Given the description of an element on the screen output the (x, y) to click on. 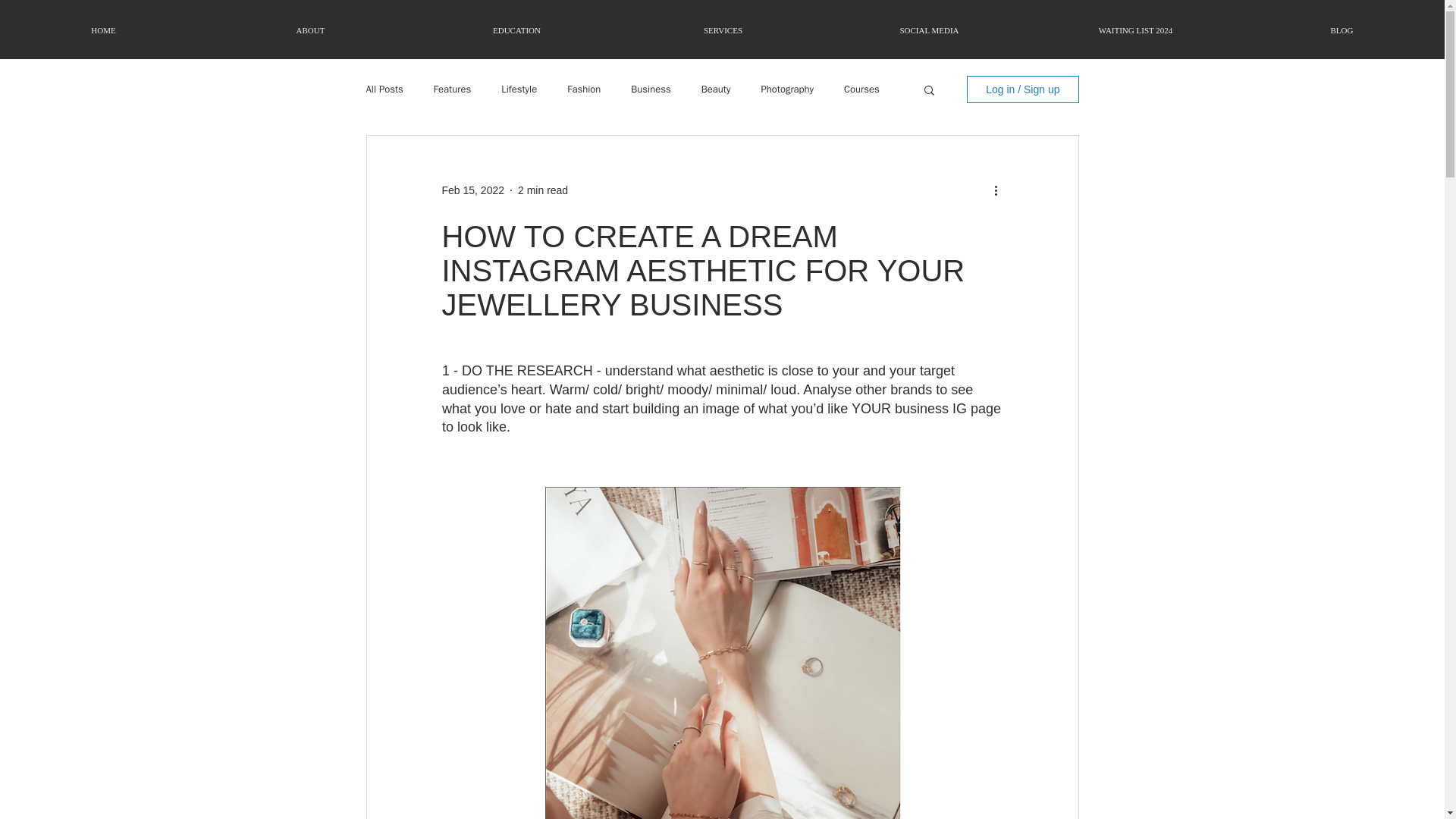
Fashion (583, 89)
WAITING LIST 2024 (1135, 30)
Features (451, 89)
Beauty (715, 89)
SERVICES (722, 30)
All Posts (384, 89)
Photography (786, 89)
ABOUT (309, 30)
Courses (861, 89)
Business (649, 89)
